Given the description of an element on the screen output the (x, y) to click on. 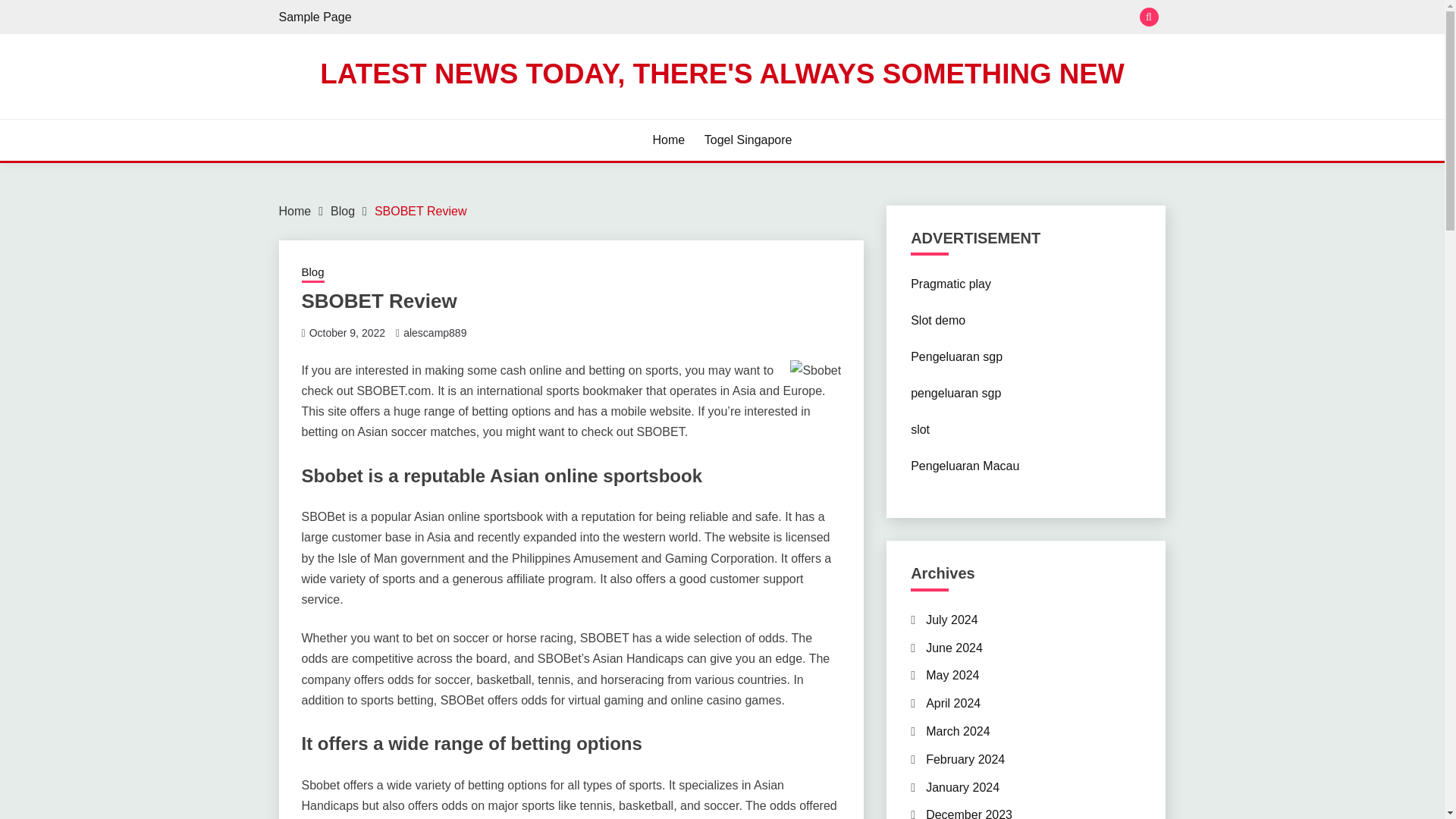
Pengeluaran Macau (965, 465)
LATEST NEWS TODAY, THERE'S ALWAYS SOMETHING NEW (722, 73)
Blog (342, 210)
January 2024 (962, 787)
alescamp889 (434, 332)
SBOBET Review (420, 210)
Togel Singapore (748, 140)
February 2024 (965, 758)
pengeluaran sgp (956, 392)
Sample Page (315, 16)
April 2024 (952, 703)
June 2024 (954, 647)
Slot demo (938, 319)
Pengeluaran sgp (957, 356)
Home (295, 210)
